Given the description of an element on the screen output the (x, y) to click on. 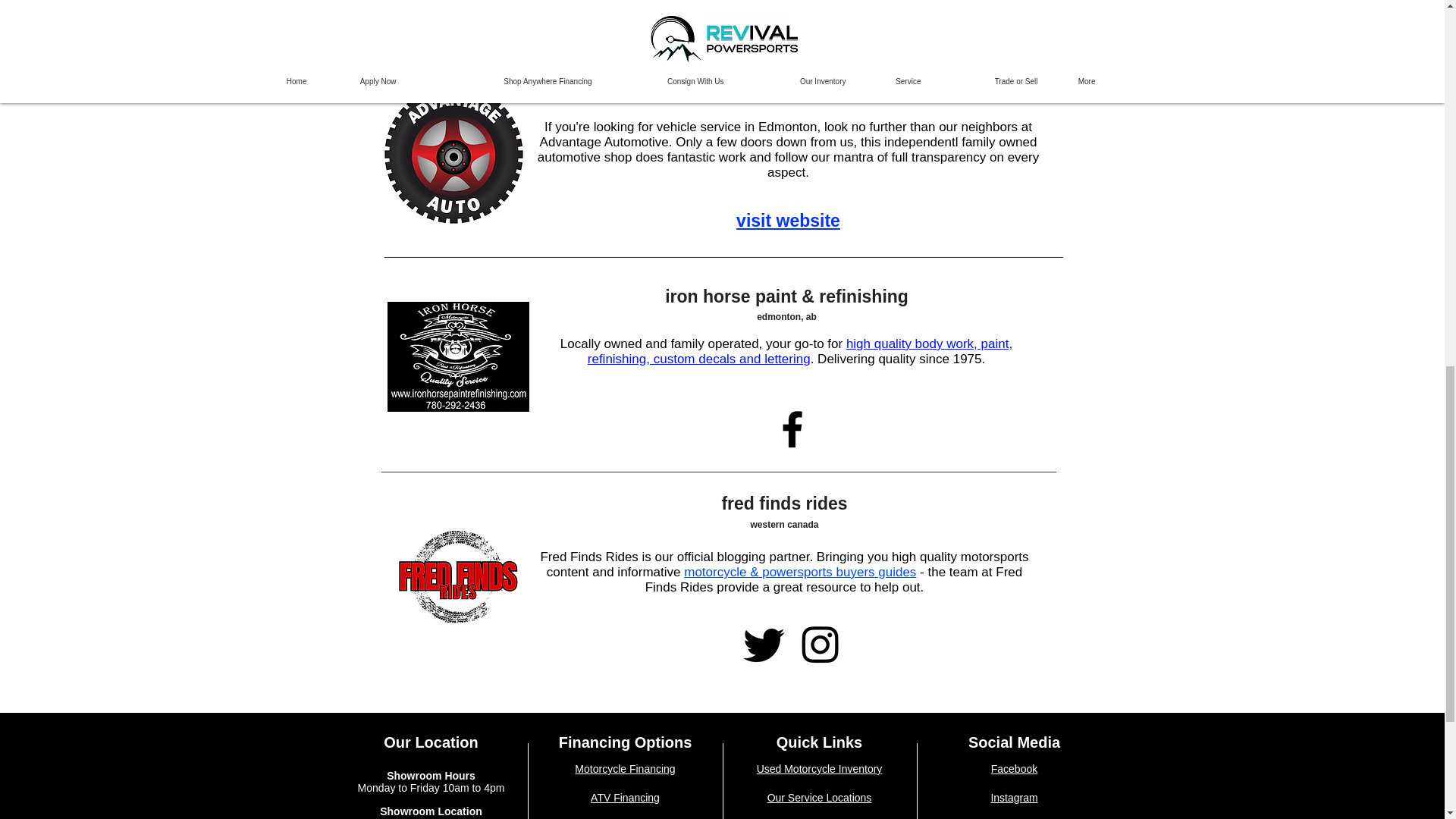
visit website (788, 220)
Facebook (1013, 768)
Instagram (1013, 797)
Motorcycle Financing (625, 768)
ATV Financing (625, 797)
